Given the description of an element on the screen output the (x, y) to click on. 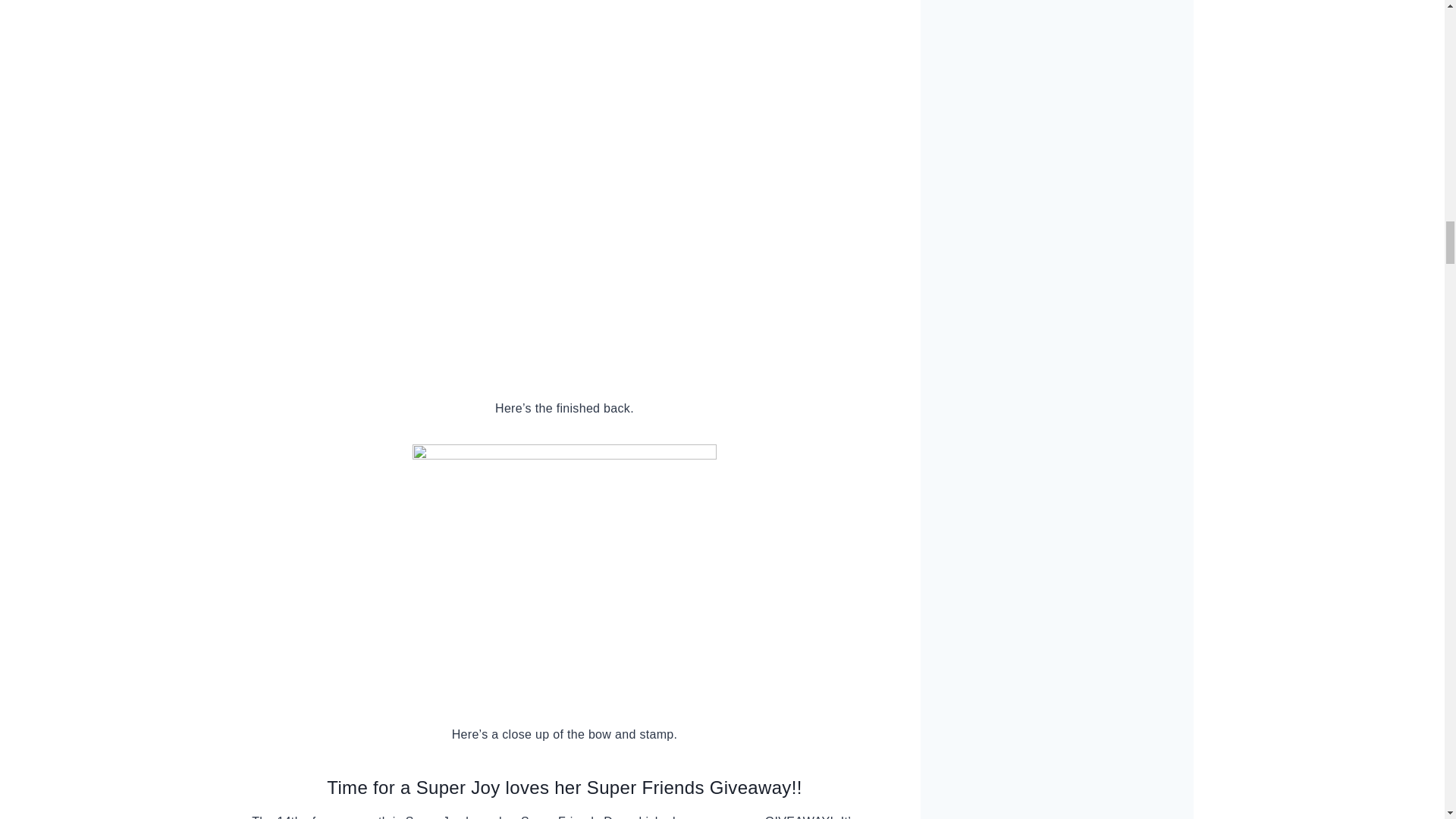
It's a bow! lol... I'm saying it like, "It's a Boy!" (564, 571)
